Given the description of an element on the screen output the (x, y) to click on. 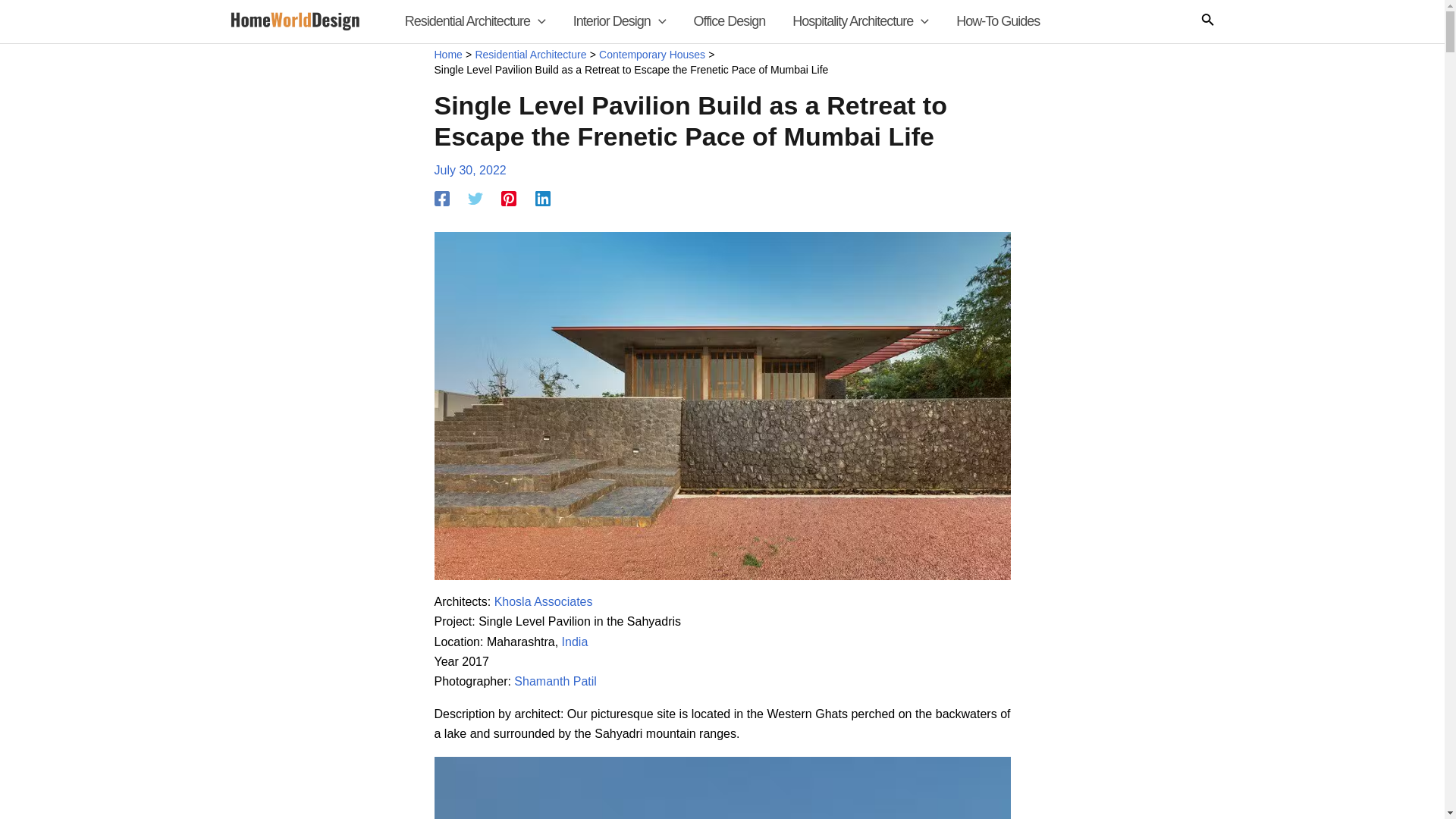
Hospitality Architecture (860, 21)
How-To Guides (997, 21)
Residential Architecture (475, 21)
Office Design (728, 21)
Interior Design (619, 21)
